Given the description of an element on the screen output the (x, y) to click on. 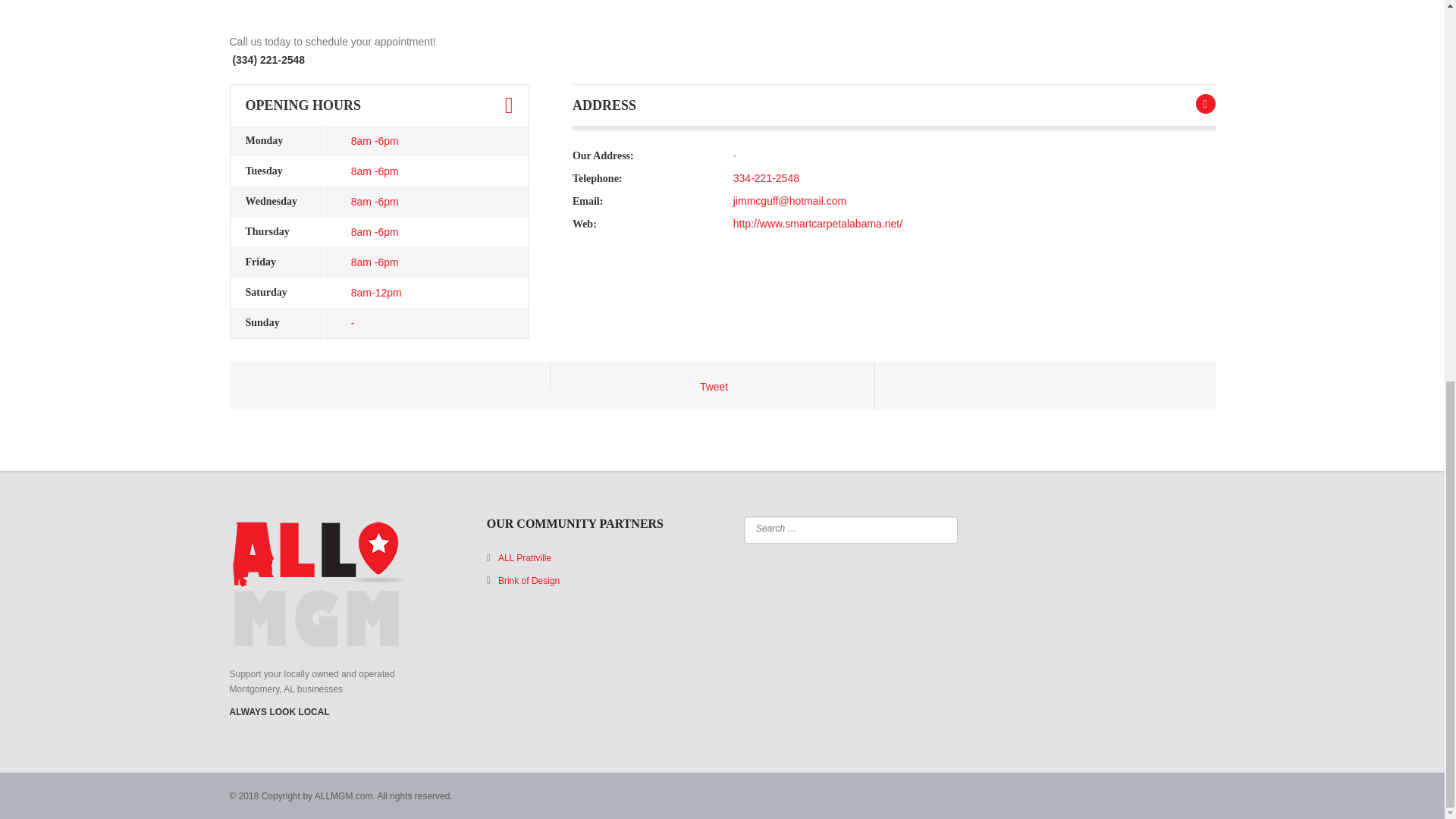
Search for: (838, 527)
Search (937, 528)
Brink of Design (528, 580)
Search (937, 528)
334-221-2548 (766, 177)
Search (937, 528)
ALL Prattville (524, 557)
Tweet (714, 386)
